Given the description of an element on the screen output the (x, y) to click on. 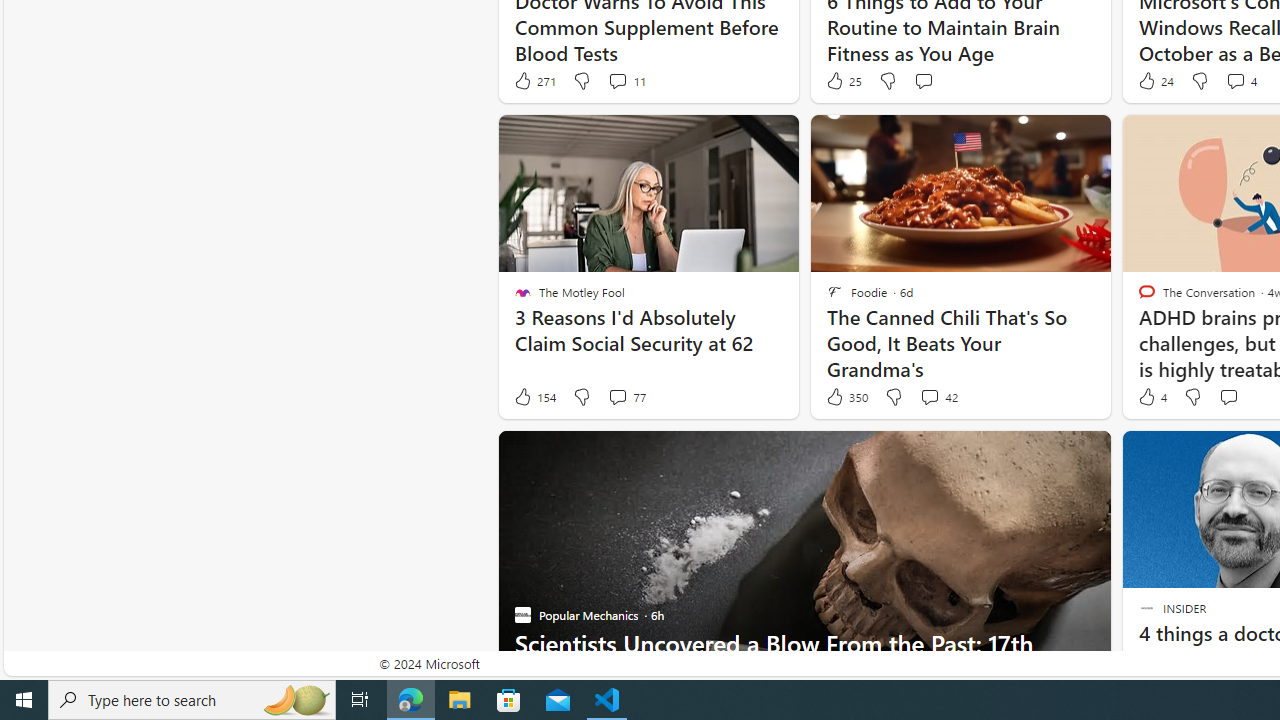
View comments 42 Comment (929, 396)
4 Like (1151, 397)
24 Like (1154, 80)
Hide this story (1169, 454)
View comments 77 Comment (626, 397)
View comments 77 Comment (617, 396)
271 Like (534, 80)
350 Like (845, 397)
View comments 11 Comment (626, 80)
View comments 42 Comment (938, 397)
25 Like (843, 80)
